Given the description of an element on the screen output the (x, y) to click on. 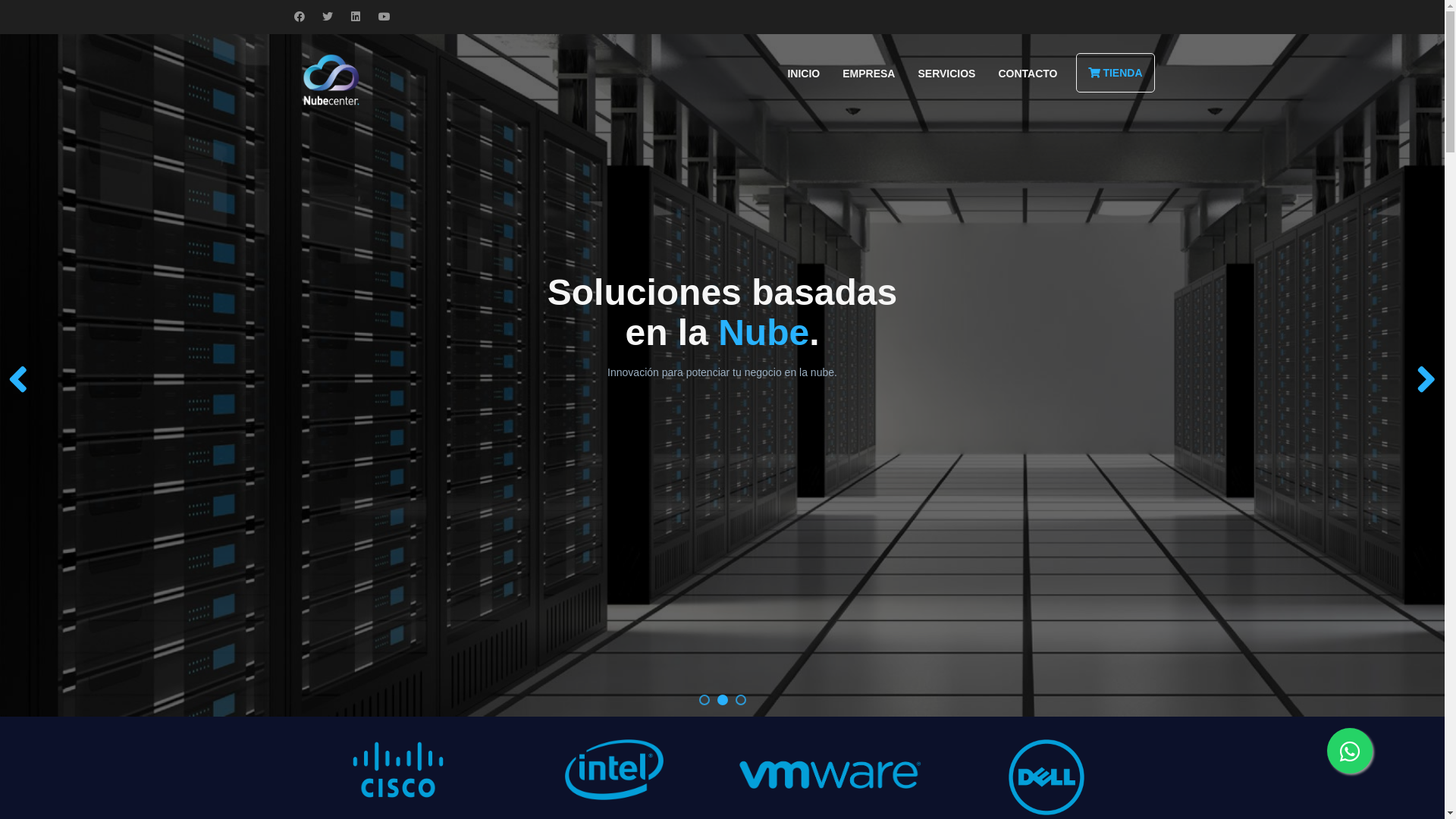
INICIO Element type: text (803, 73)
SERVICIOS Element type: text (946, 73)
TIENDA Element type: text (1114, 72)
EMPRESA Element type: text (868, 73)
CONTACTO Element type: text (1027, 73)
